Given the description of an element on the screen output the (x, y) to click on. 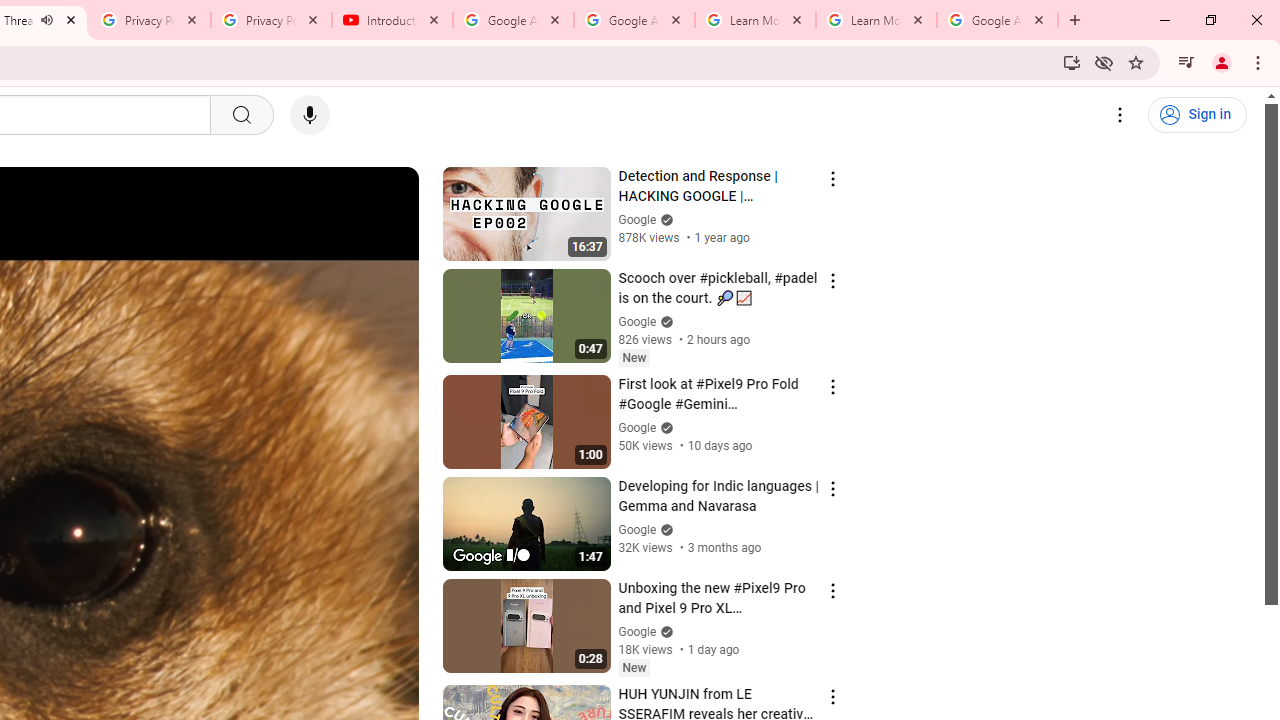
Install YouTube (1071, 62)
Introduction | Google Privacy Policy - YouTube (392, 20)
Search with your voice (309, 115)
